Given the description of an element on the screen output the (x, y) to click on. 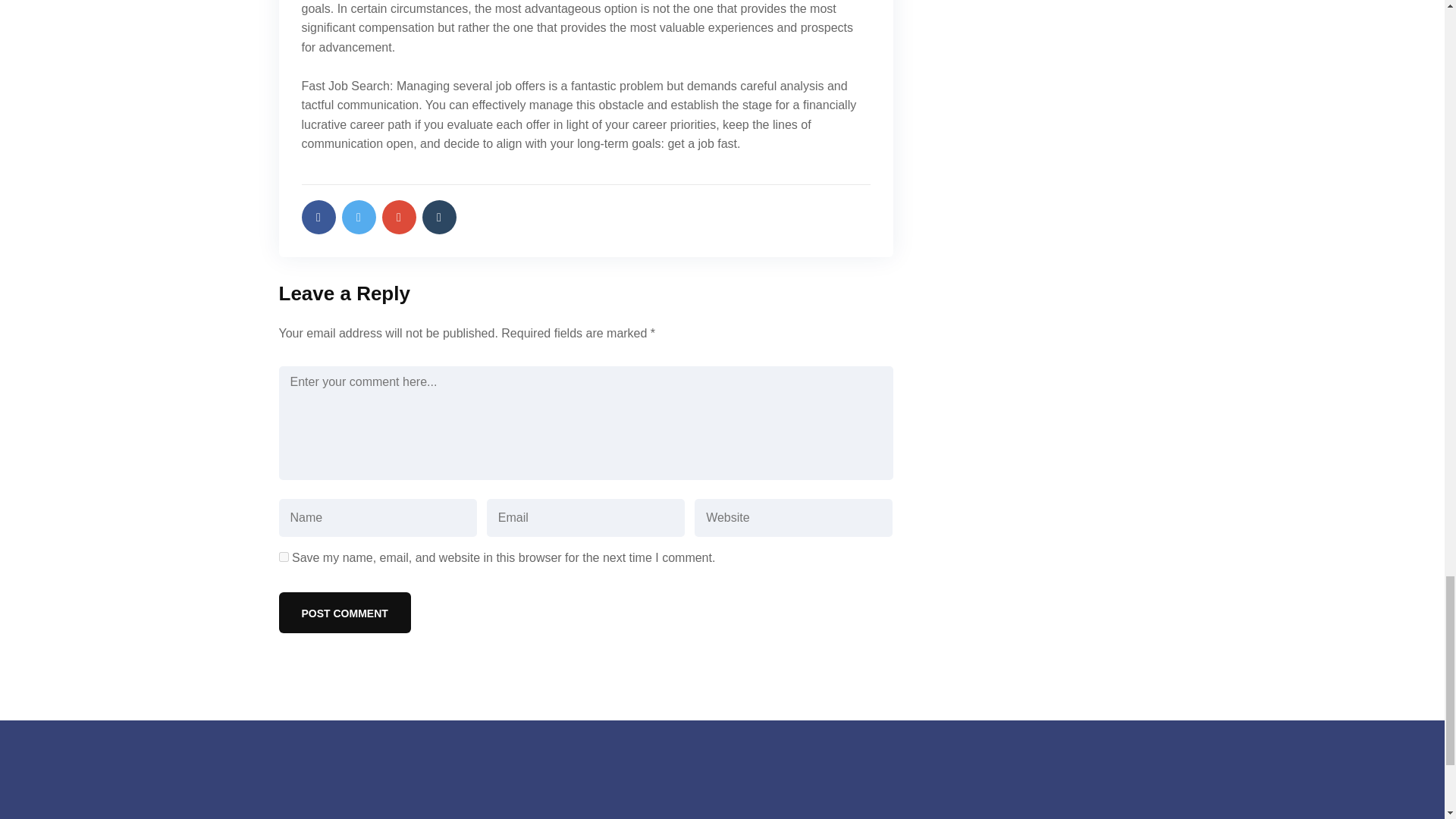
Post Comment (344, 612)
yes (283, 556)
